Given the description of an element on the screen output the (x, y) to click on. 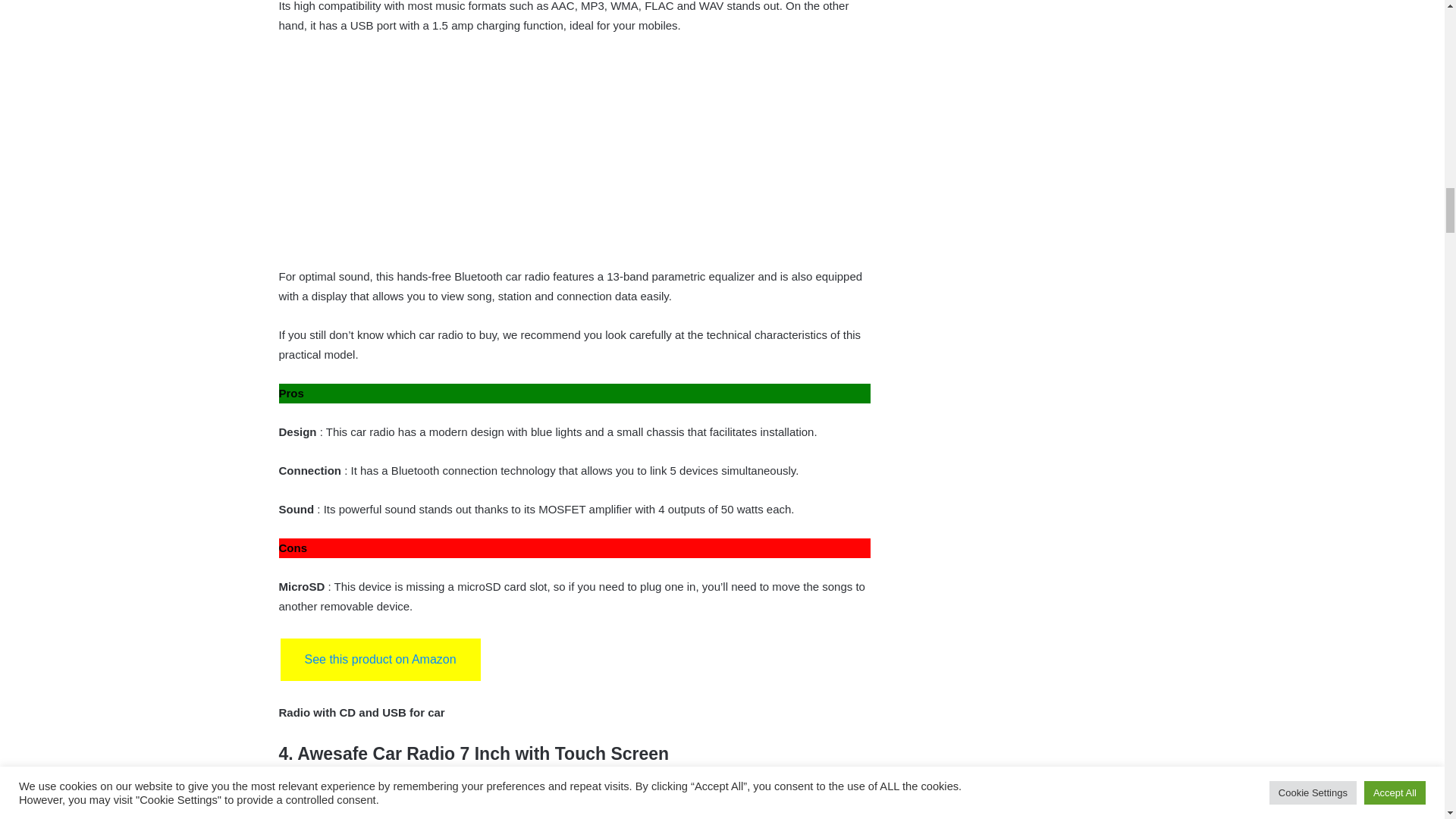
See this product on Amazon (380, 659)
